Given the description of an element on the screen output the (x, y) to click on. 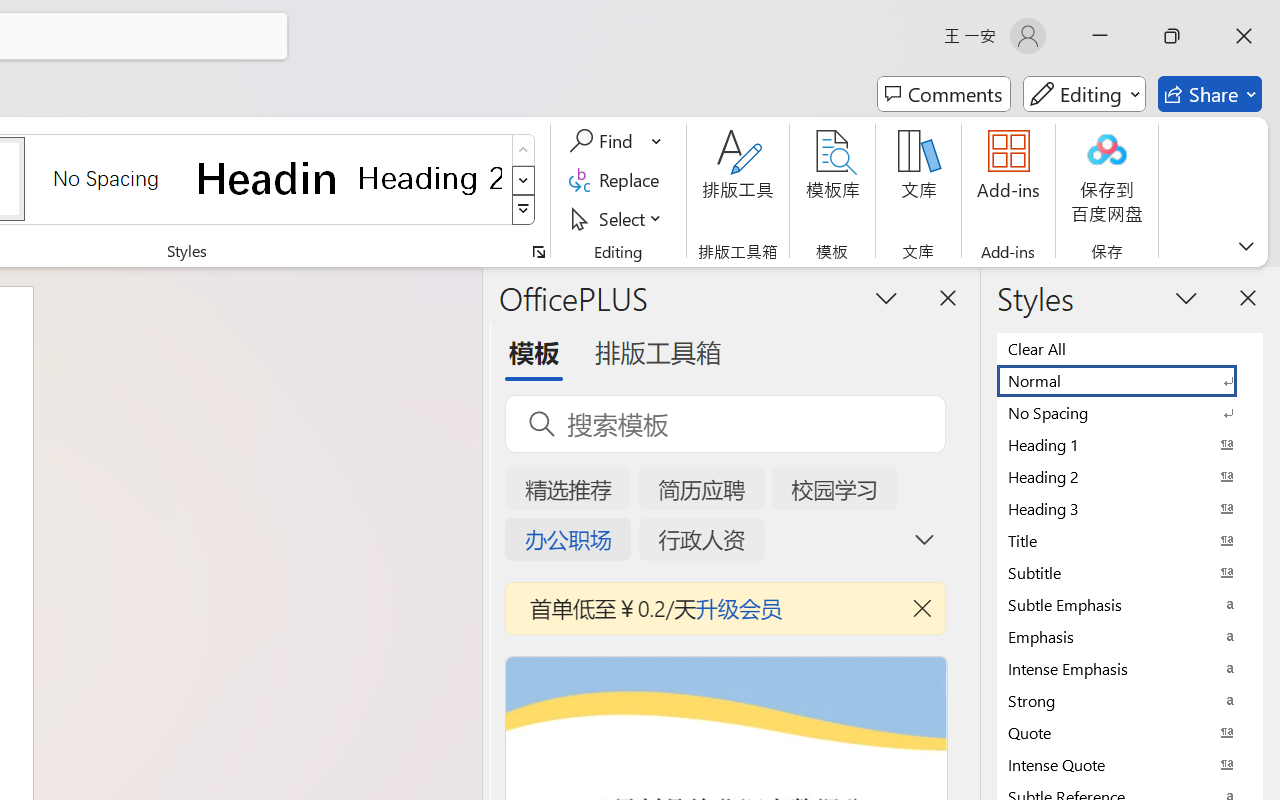
Title (1130, 540)
Subtitle (1130, 572)
Styles... (538, 252)
No Spacing (1130, 412)
Restore Down (1172, 36)
Heading 3 (1130, 508)
Task Pane Options (886, 297)
Ribbon Display Options (1246, 245)
Heading 1 (267, 178)
